Given the description of an element on the screen output the (x, y) to click on. 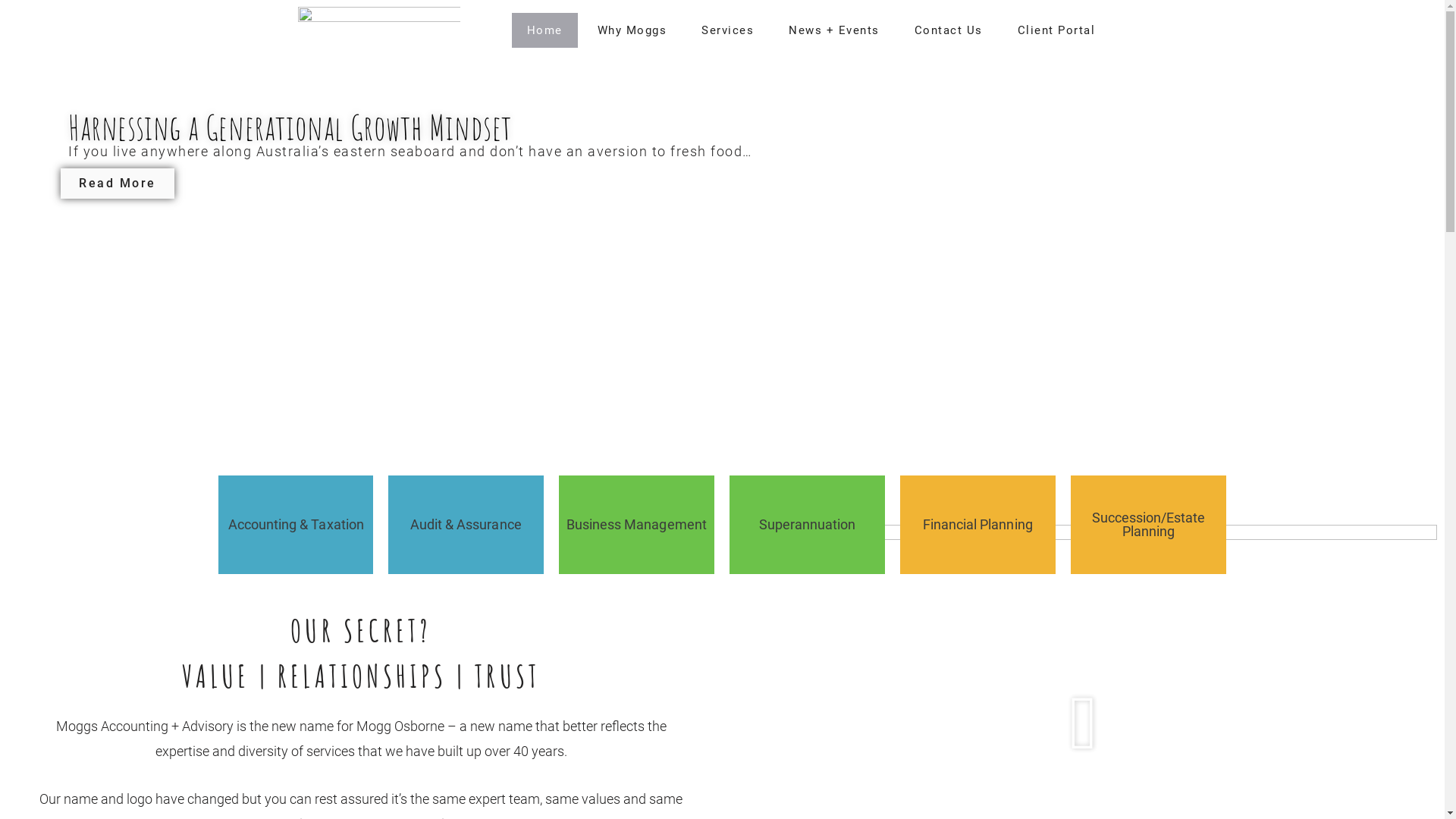
Learn More Element type: text (985, 509)
Read More Element type: text (117, 183)
Home Element type: text (544, 29)
Why Moggs Element type: text (632, 29)
Services Element type: text (727, 29)
News + Events Element type: text (833, 29)
Learn More Element type: text (303, 509)
Learn More Element type: text (1155, 509)
Learn More Element type: text (644, 509)
Client Portal Element type: text (1056, 29)
Learn More Element type: text (815, 514)
Contact Us Element type: text (948, 29)
Harnessing a Generational Growth Mindset Element type: text (289, 126)
Learn More Element type: text (474, 509)
